Given the description of an element on the screen output the (x, y) to click on. 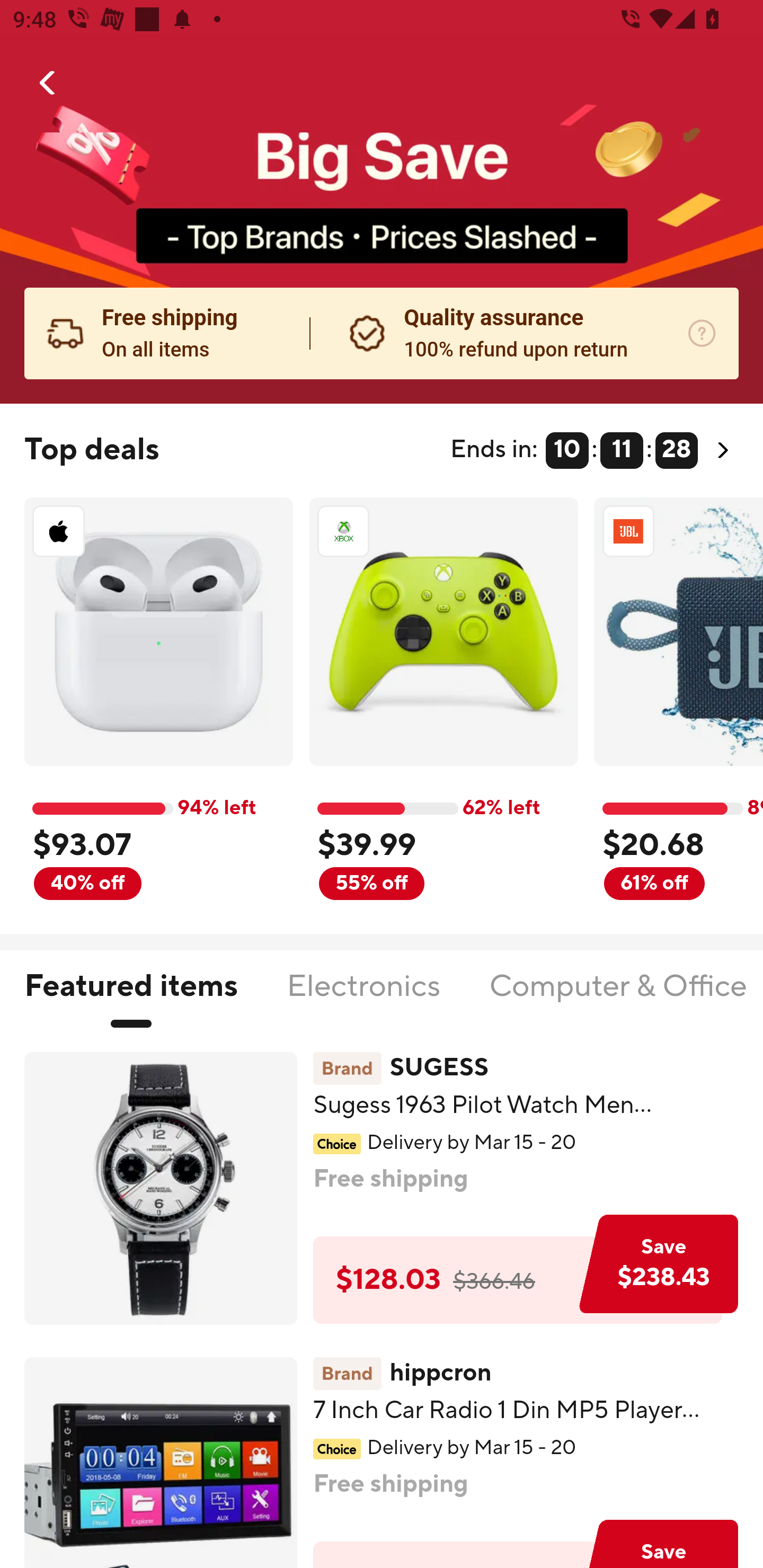
 (48, 82)
Featured items (130, 996)
Electronics (363, 996)
Computer & Office (617, 996)
